Given the description of an element on the screen output the (x, y) to click on. 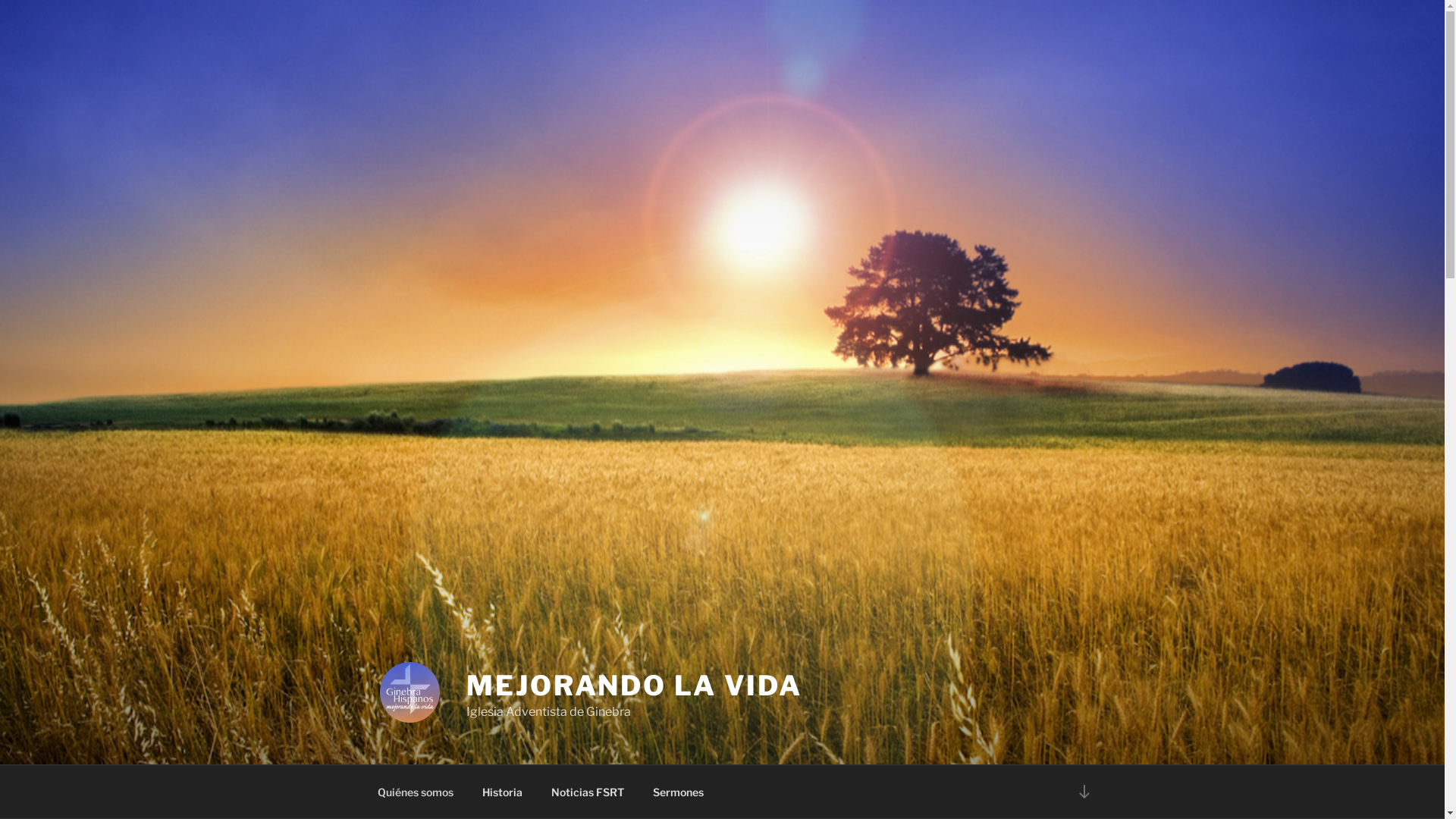
Sermones Element type: text (678, 791)
Desplazarse al contenido Element type: text (1083, 790)
Historia Element type: text (501, 791)
MEJORANDO LA VIDA Element type: text (634, 685)
Noticias FSRT Element type: text (587, 791)
Saltar al contenido Element type: text (0, 0)
